Given the description of an element on the screen output the (x, y) to click on. 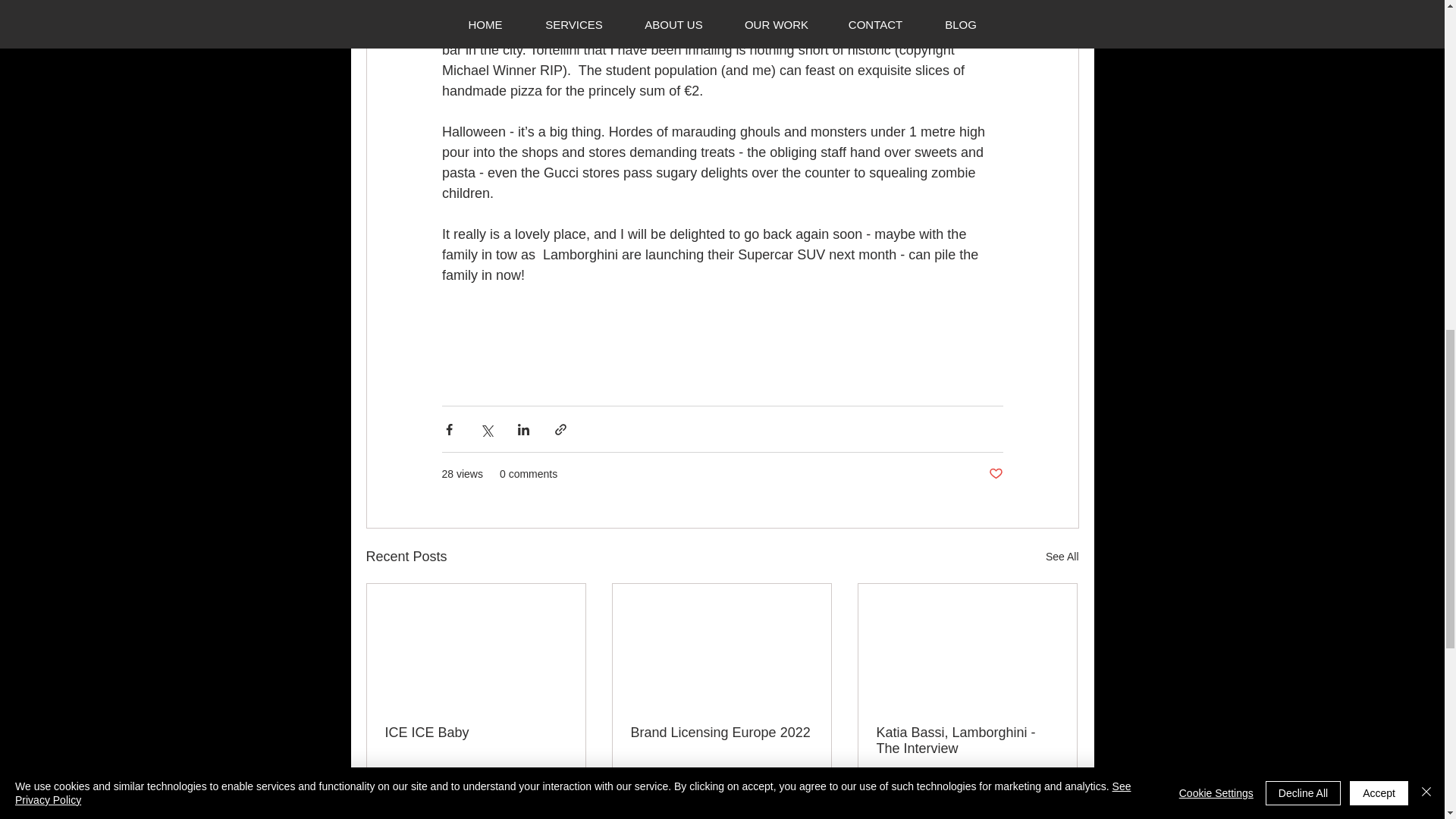
0 (685, 794)
Katia Bassi, Lamborghini - The Interview (967, 740)
Post not marked as liked (804, 793)
ICE ICE Baby (476, 732)
Post not marked as liked (1050, 793)
See All (1061, 557)
Post not marked as liked (558, 793)
0 (435, 794)
Brand Licensing Europe 2022 (721, 732)
0 (931, 794)
Post not marked as liked (995, 474)
